Given the description of an element on the screen output the (x, y) to click on. 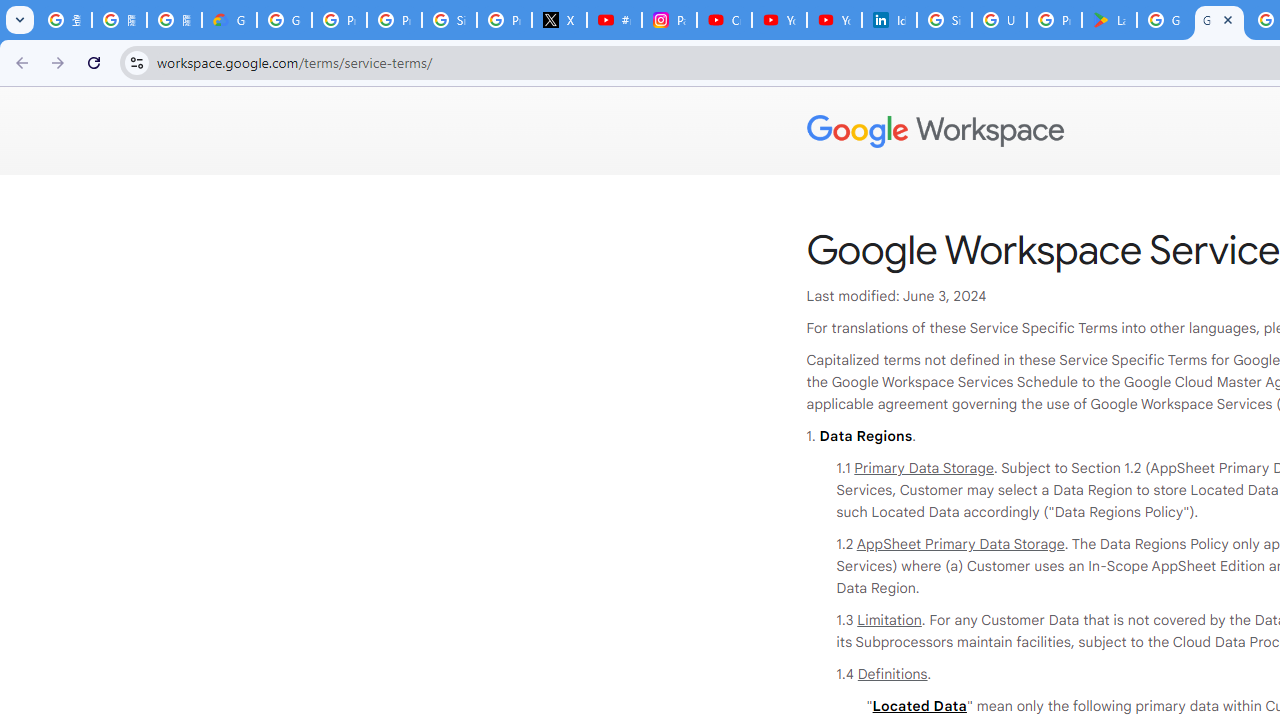
YouTube Culture & Trends - YouTube Top 10, 2021 (833, 20)
Last Shelter: Survival - Apps on Google Play (1108, 20)
